Given the description of an element on the screen output the (x, y) to click on. 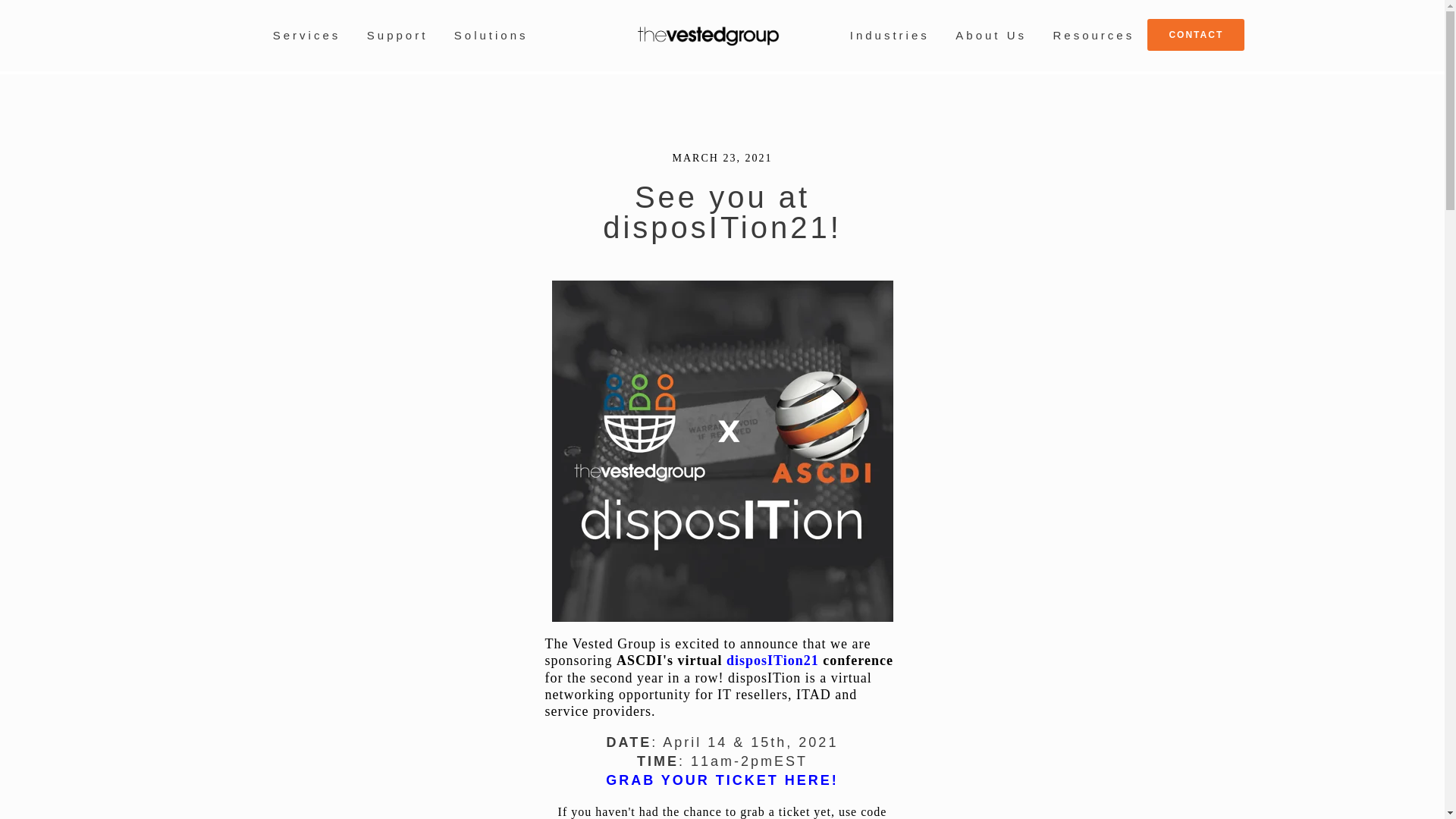
Services (306, 36)
Solutions (491, 36)
Support (397, 36)
Industries (890, 36)
About Us (990, 36)
